Given the description of an element on the screen output the (x, y) to click on. 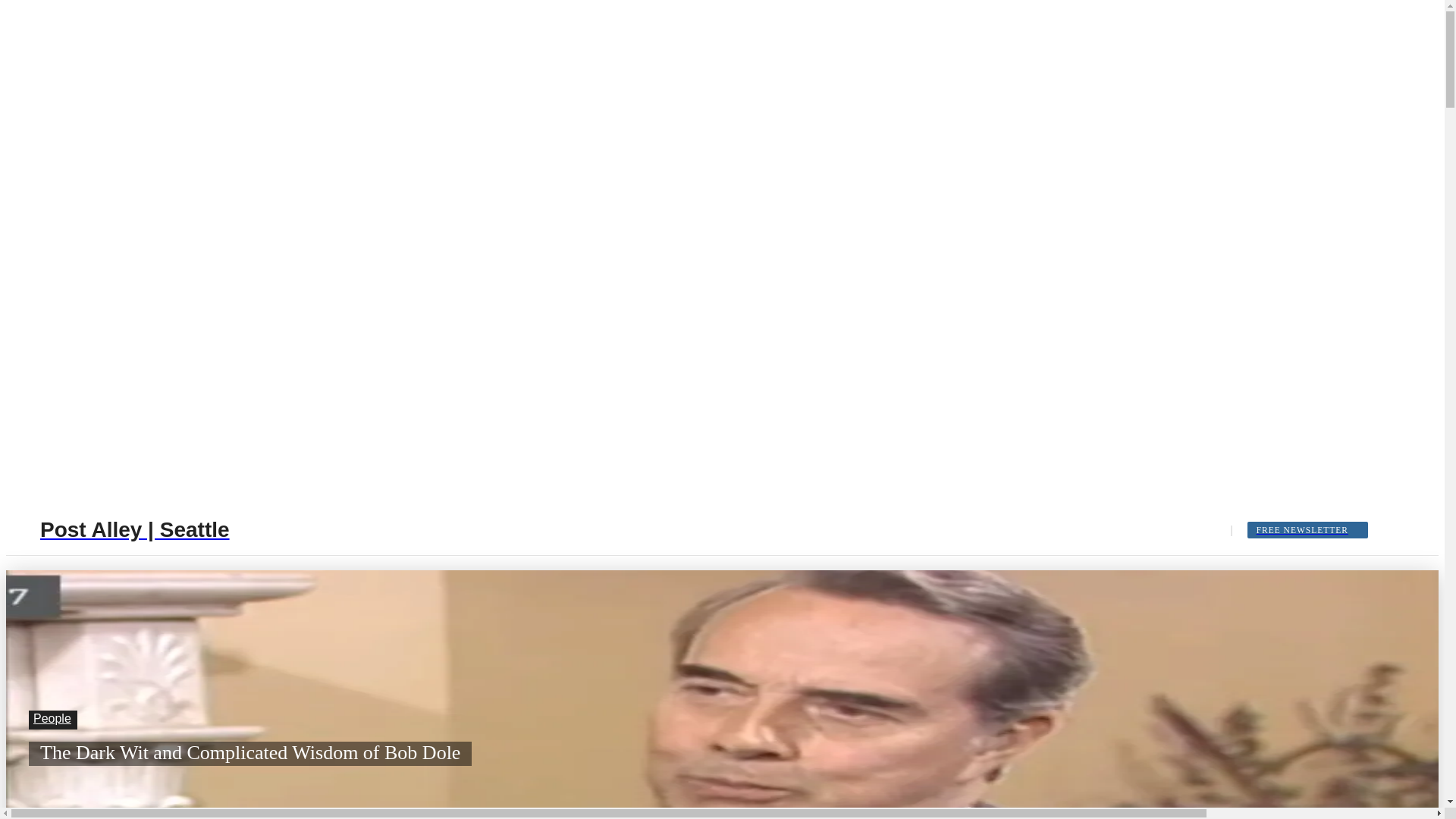
FREE NEWSLETTER (1307, 529)
